Given the description of an element on the screen output the (x, y) to click on. 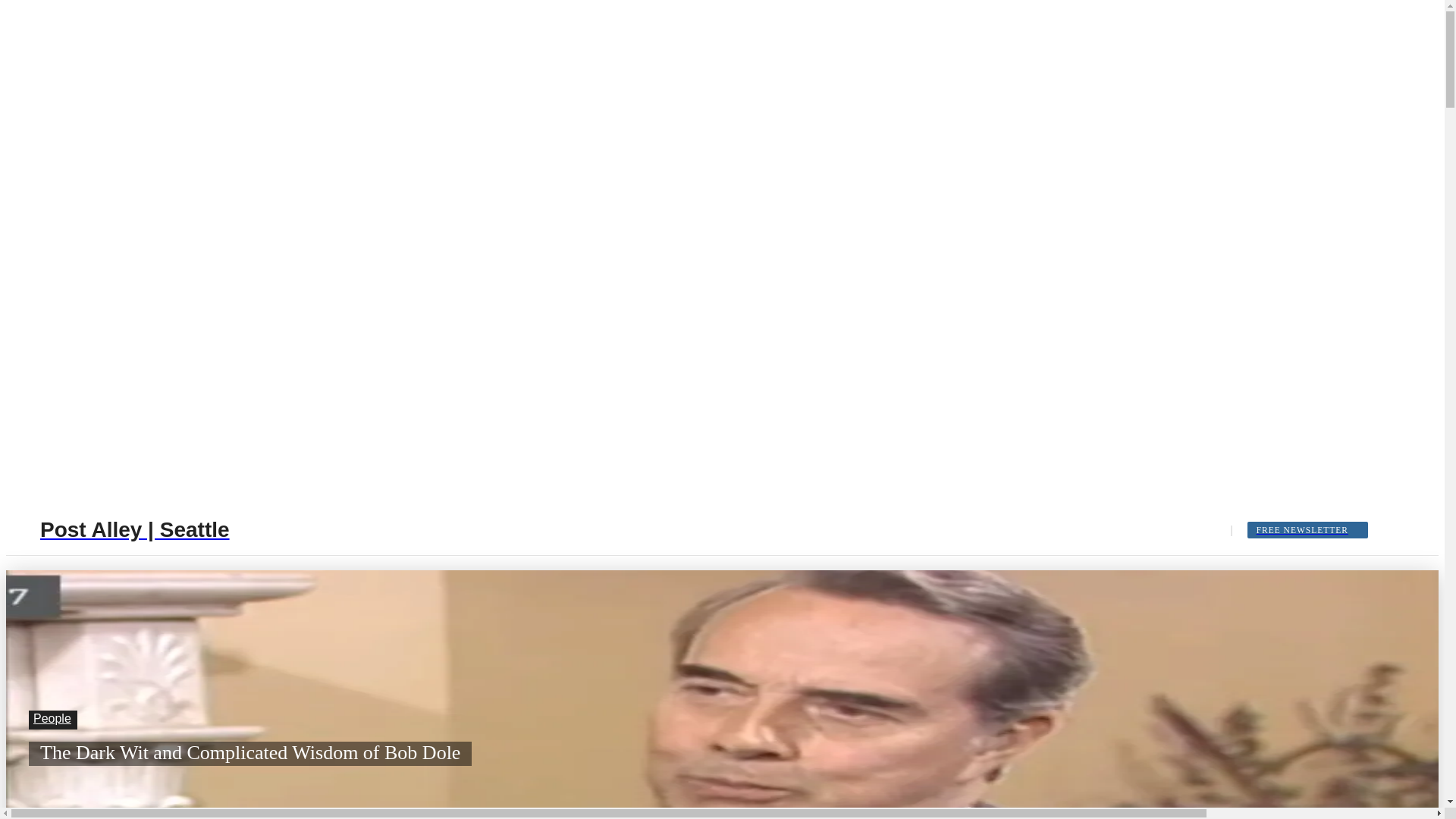
FREE NEWSLETTER (1307, 529)
